Given the description of an element on the screen output the (x, y) to click on. 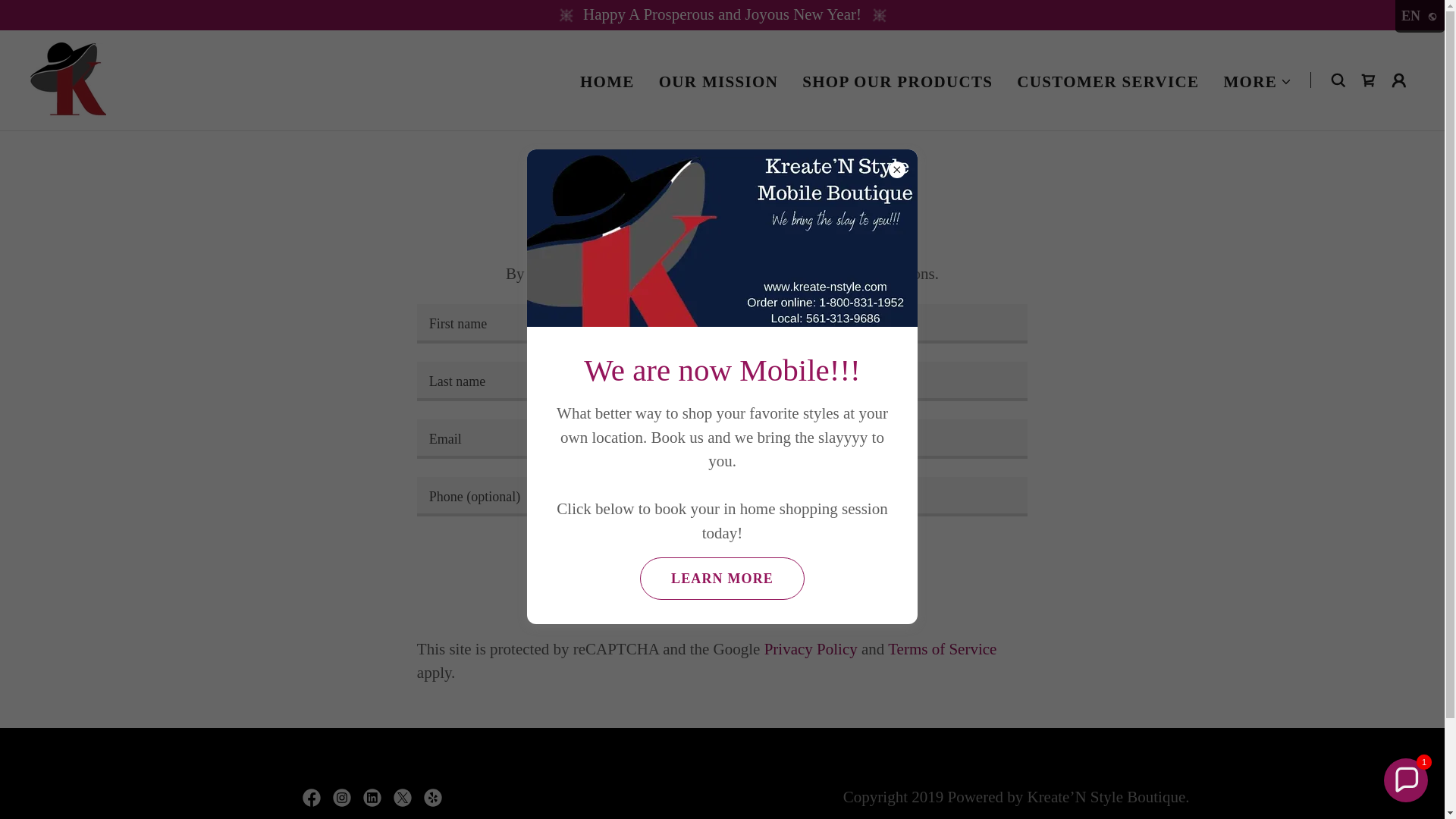
CUSTOMER SERVICE (1107, 81)
MORE (1257, 81)
OUR MISSION (718, 81)
Re:amaze Chat (1298, 670)
SHOP OUR PRODUCTS (897, 81)
HOME (607, 81)
